Given the description of an element on the screen output the (x, y) to click on. 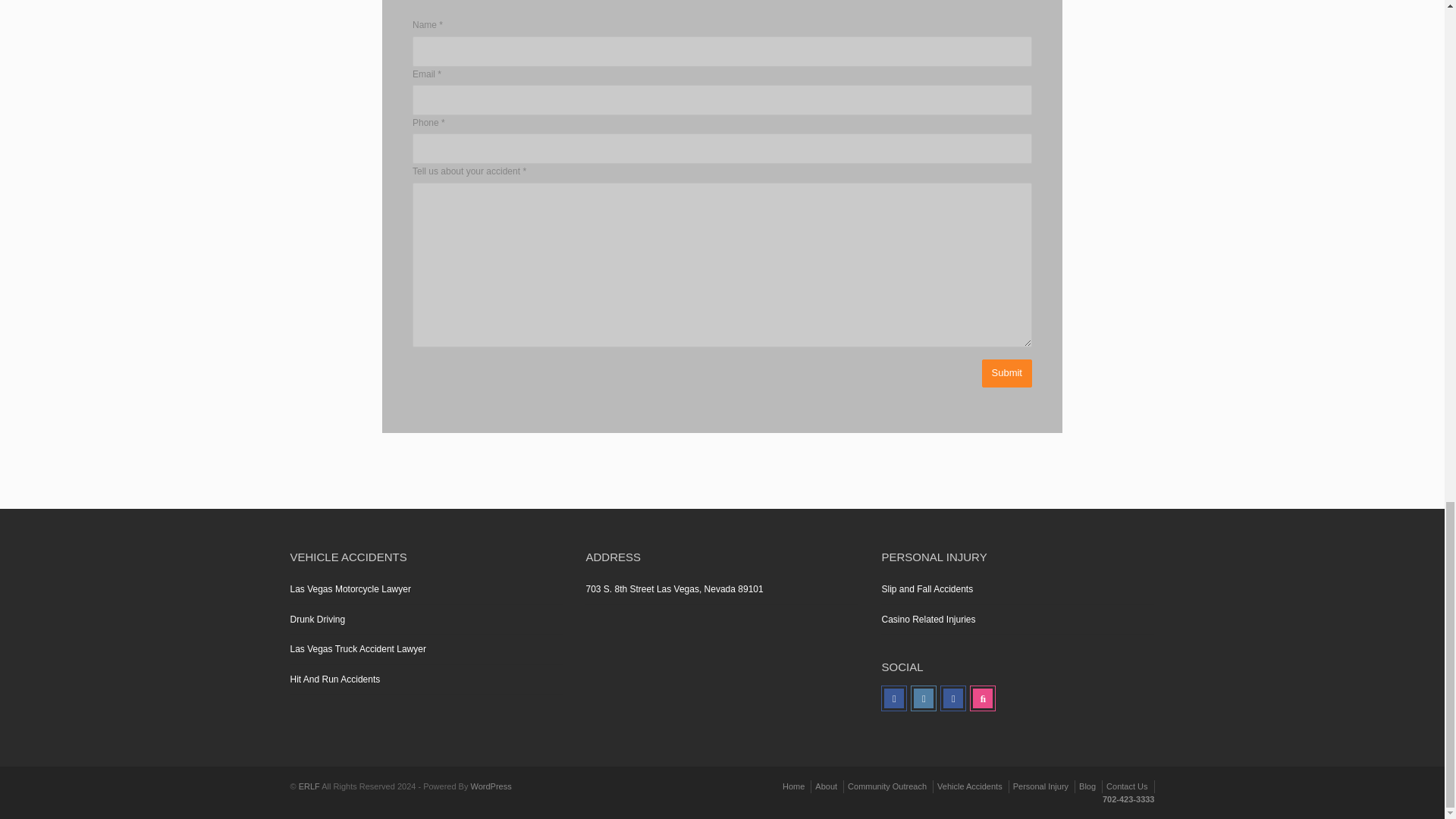
Submit (1006, 373)
Las Vegas Motorcycle Lawyer (425, 589)
Submit (1006, 373)
